Given the description of an element on the screen output the (x, y) to click on. 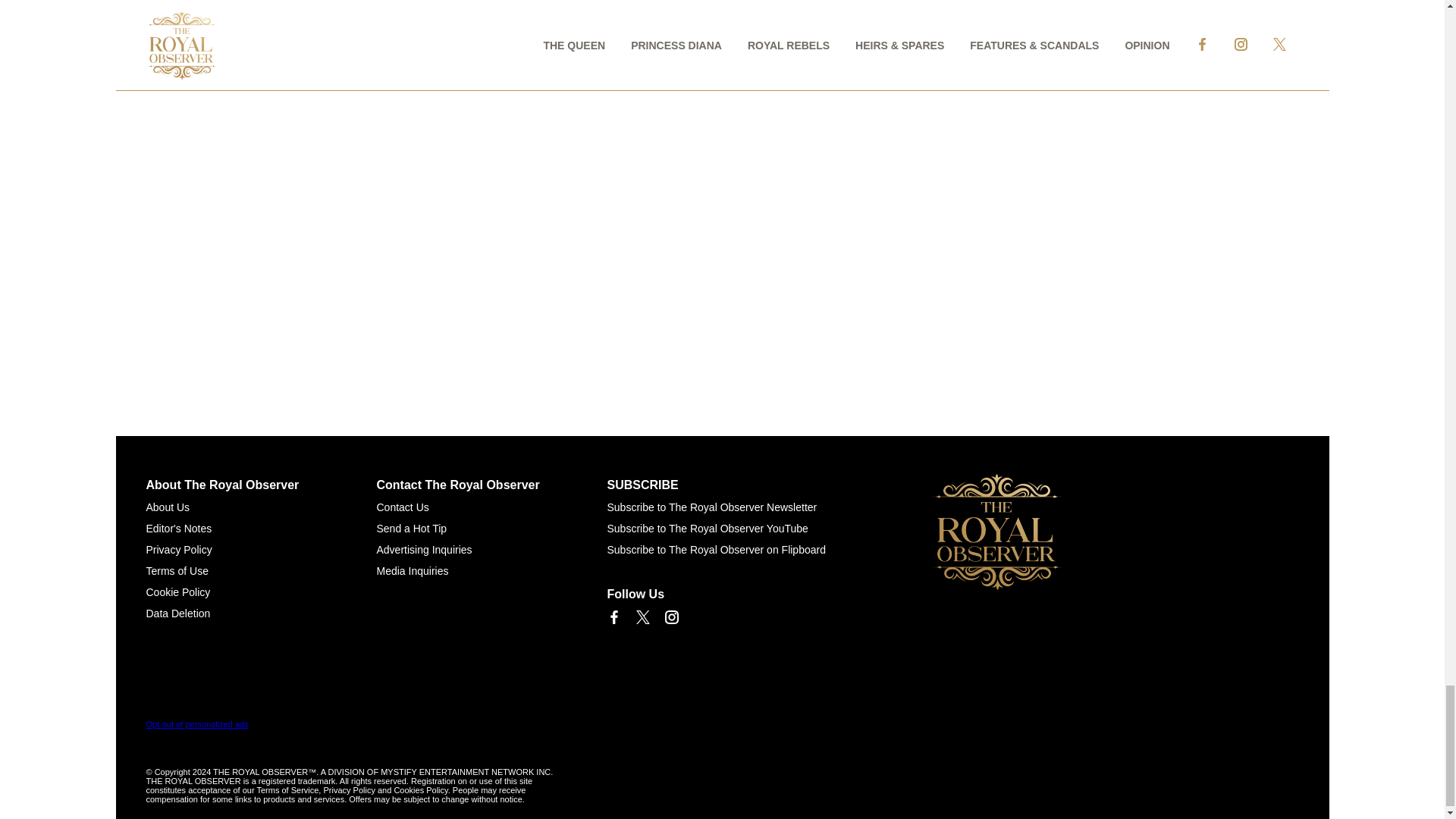
Link to Facebook (613, 617)
Contact Us (401, 507)
Terms of Use (176, 571)
Editor's Notes (178, 528)
Data Deletion (177, 613)
Link to X (641, 617)
Privacy Policy (178, 549)
Link to Instagram (670, 617)
Send a Hot Tip (410, 528)
Advertising Inquiries (423, 549)
